Given the description of an element on the screen output the (x, y) to click on. 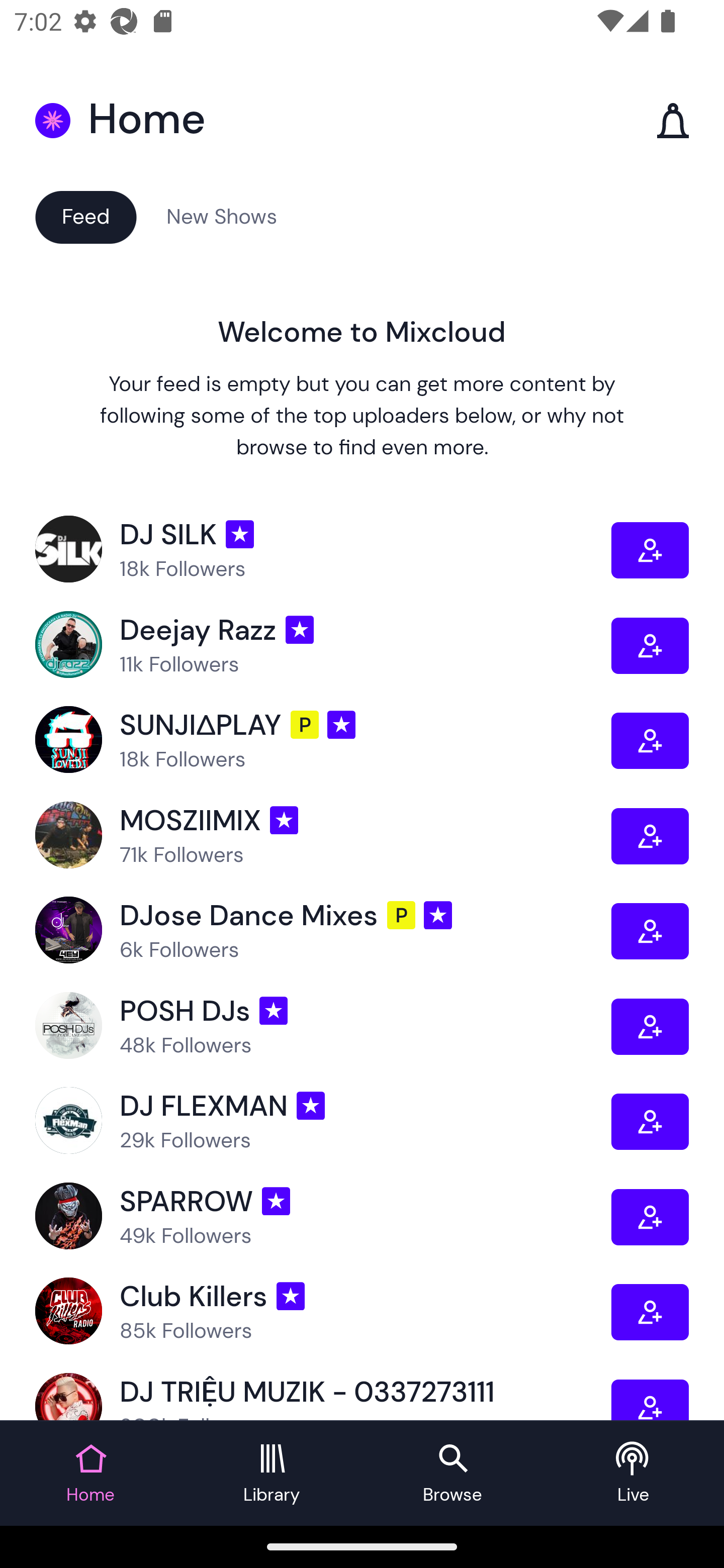
Feed (85, 216)
New Shows (221, 216)
DJ SILK, 18k Followers DJ SILK 18k Followers (323, 549)
Follow (649, 550)
Follow (649, 645)
SUNJI∆PLAY, 18k Followers SUNJI∆PLAY 18k Followers (323, 739)
Follow (649, 739)
MOSZIIMIX, 71k Followers MOSZIIMIX 71k Followers (323, 835)
Follow (649, 835)
Follow (649, 931)
POSH DJs, 48k Followers POSH DJs 48k Followers (323, 1026)
Follow (649, 1026)
DJ FLEXMAN, 29k Followers DJ FLEXMAN 29k Followers (323, 1120)
Follow (649, 1120)
SPARROW, 49k Followers SPARROW 49k Followers (323, 1216)
Follow (649, 1216)
Follow (649, 1312)
Follow (649, 1399)
Home tab Home (90, 1473)
Library tab Library (271, 1473)
Browse tab Browse (452, 1473)
Live tab Live (633, 1473)
